Given the description of an element on the screen output the (x, y) to click on. 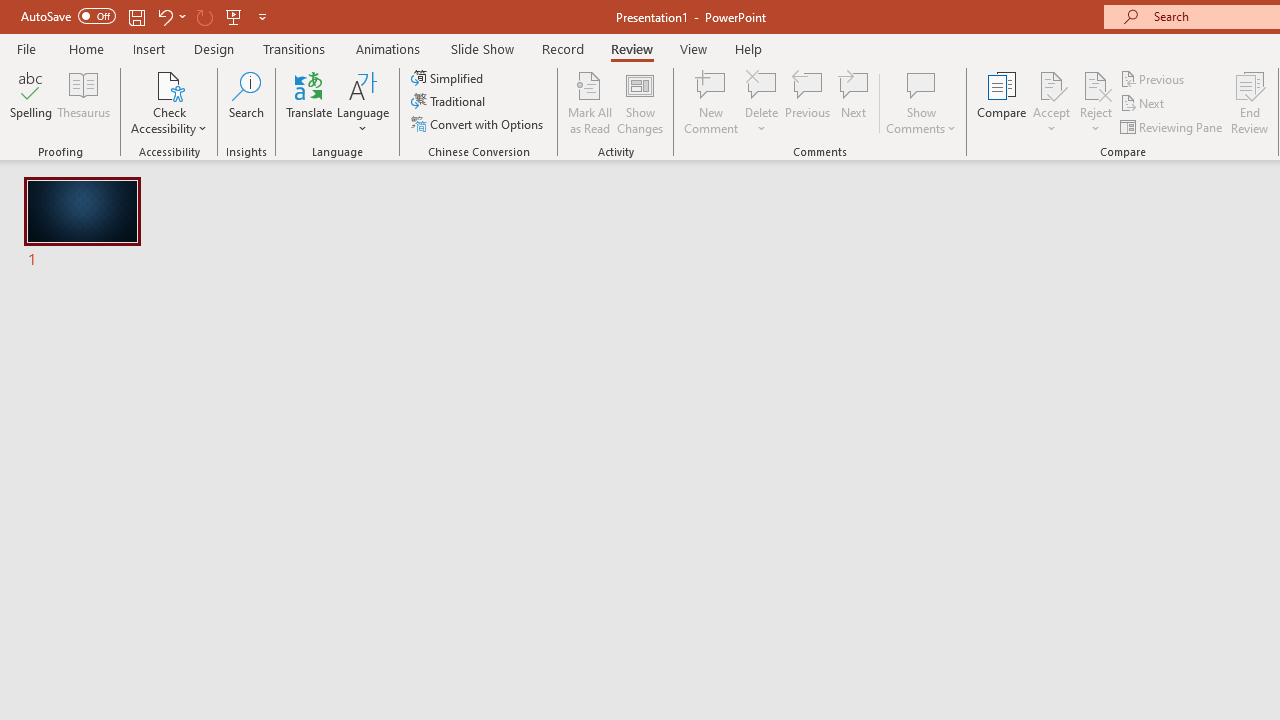
Accept (1051, 102)
Traditional (449, 101)
Mark All as Read (589, 102)
End Review (1249, 102)
Simplified (449, 78)
